Given the description of an element on the screen output the (x, y) to click on. 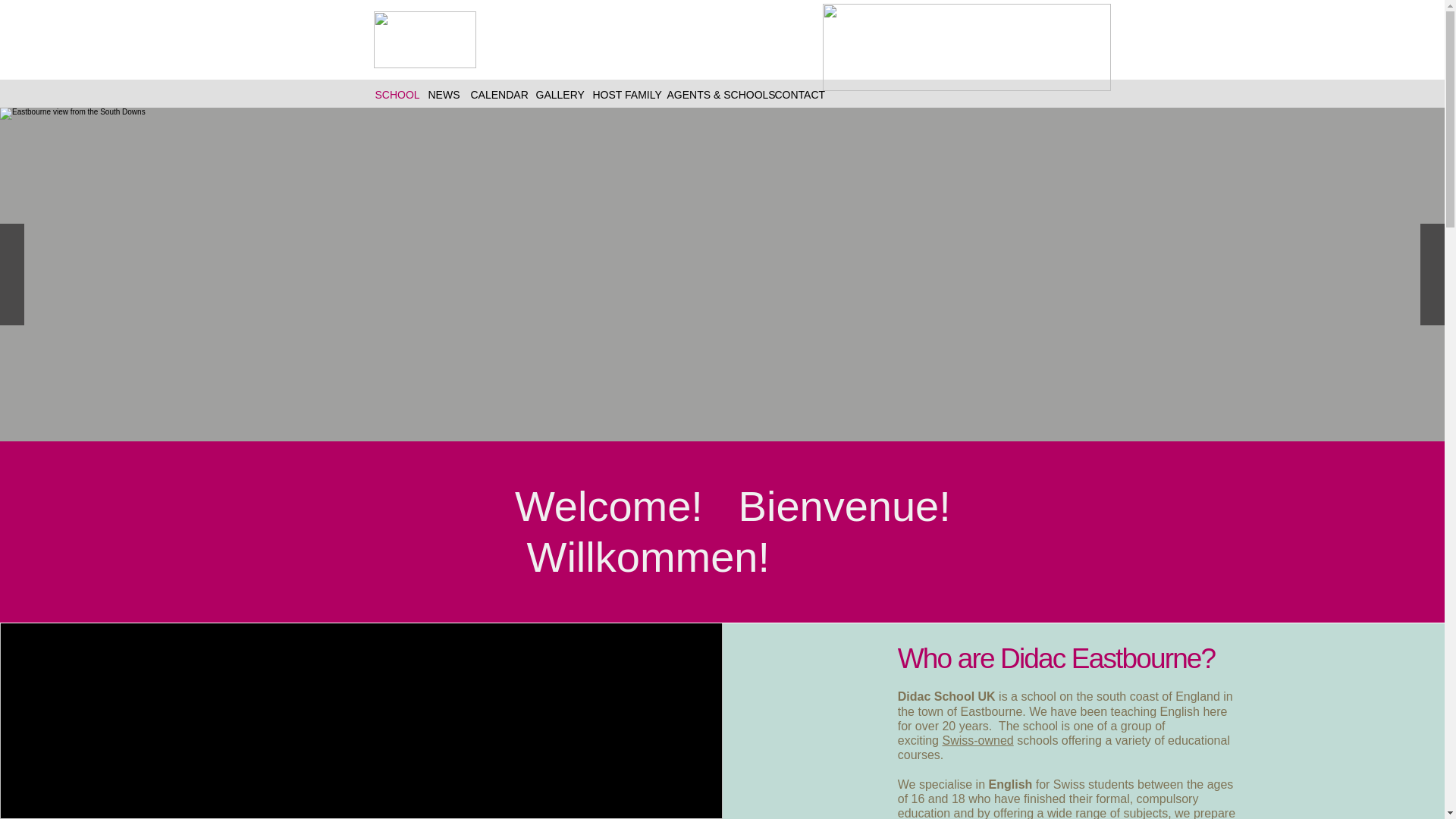
CONTACT (795, 94)
Swiss-owned (977, 739)
CALENDAR (495, 94)
GALLERY (556, 94)
NEWS (441, 94)
SCHOOL (393, 94)
HOST FAMILY (622, 94)
